Given the description of an element on the screen output the (x, y) to click on. 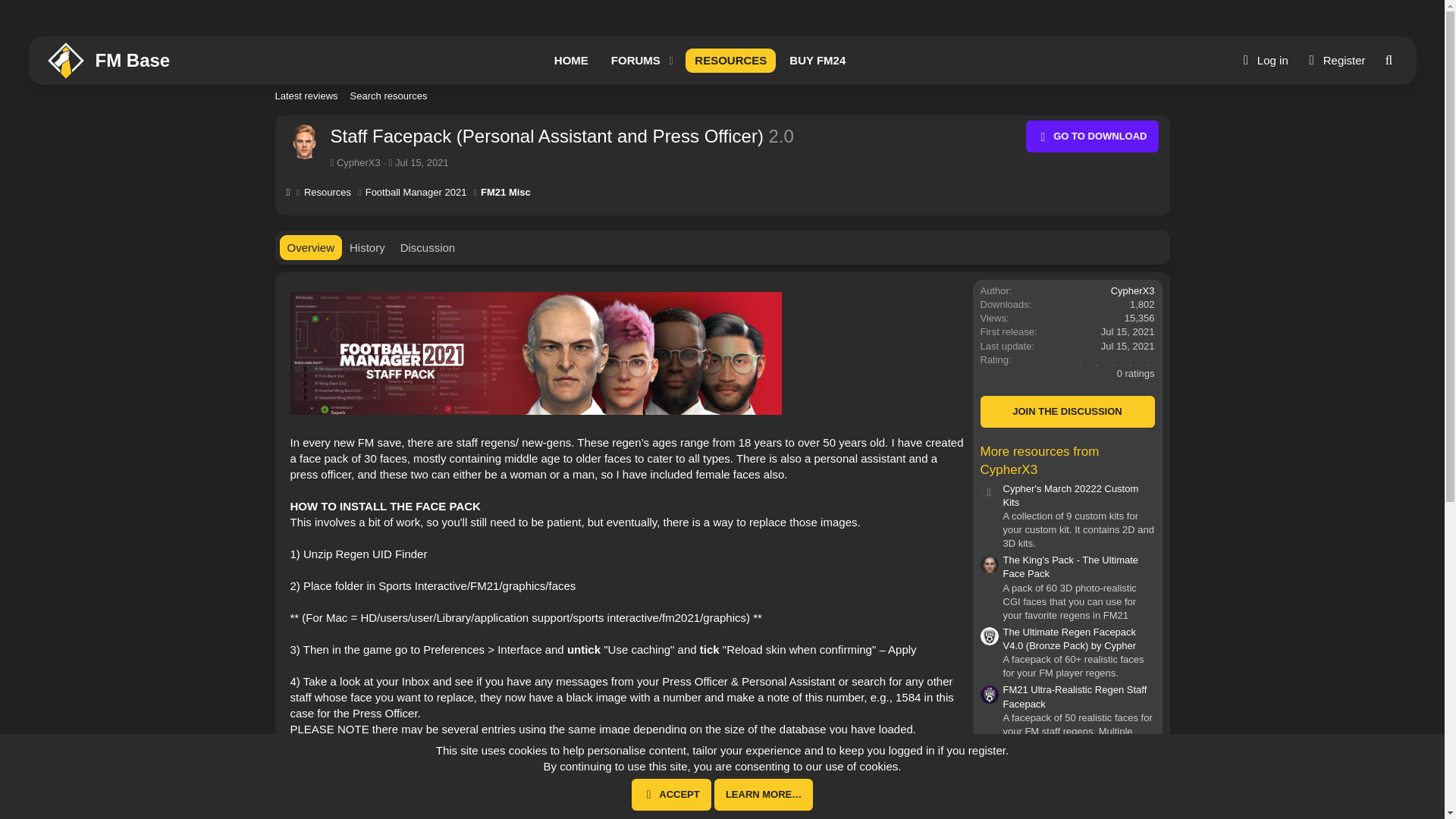
Resources (327, 192)
FM21 Misc (505, 192)
CypherX3 (1132, 290)
HOME (570, 60)
Jul 15, 2021 (421, 162)
GO TO DOWNLOAD (1092, 136)
CypherX3 (358, 162)
FORUMS (699, 60)
Register (699, 77)
Search resources (720, 113)
Patreon Banner Staff.jpg (632, 60)
Jul 15, 2021 at 10:39 AM (1334, 60)
